Given the description of an element on the screen output the (x, y) to click on. 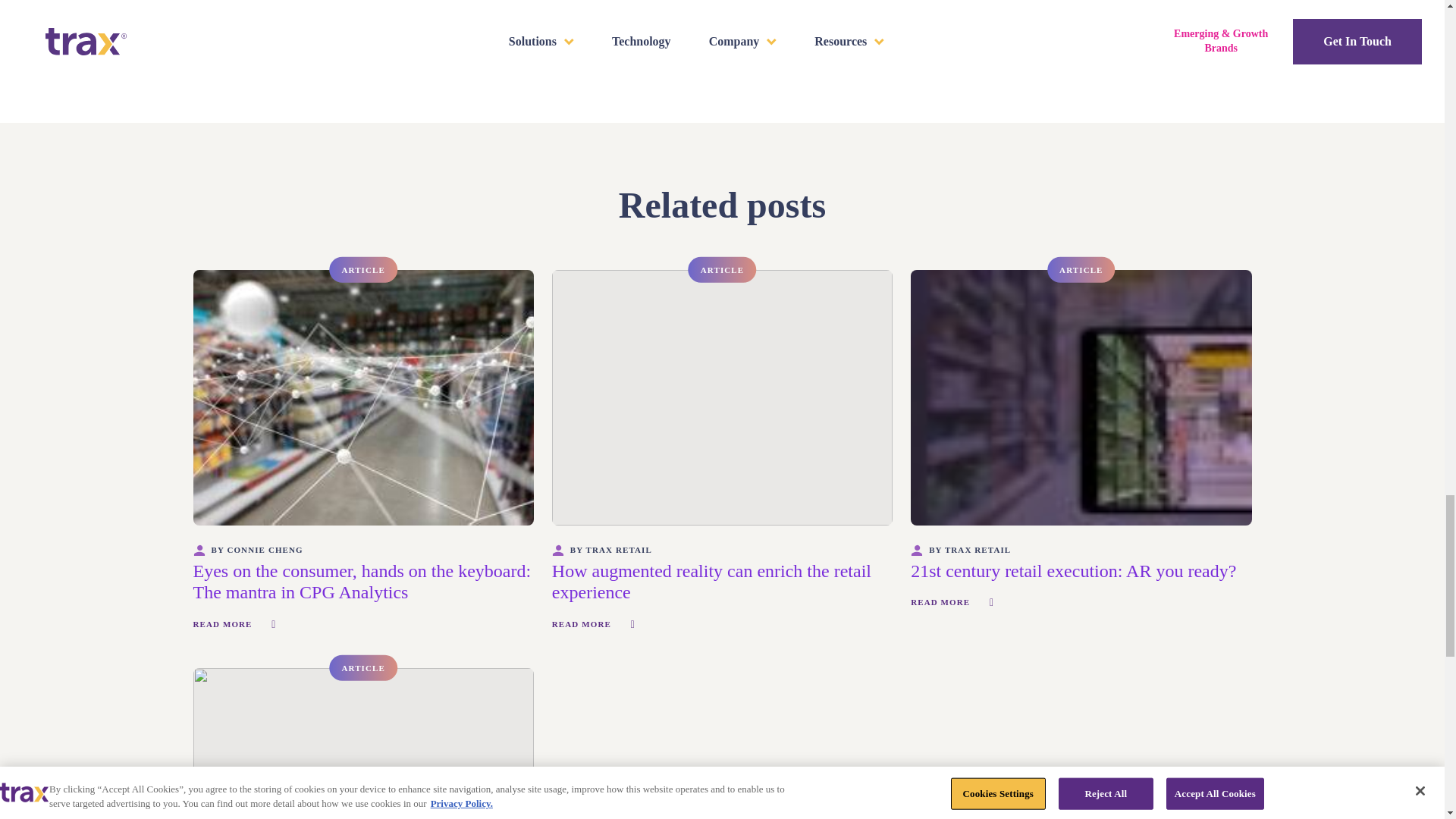
READ MORE (234, 624)
How augmented reality can enrich the retail experience (710, 581)
